Given the description of an element on the screen output the (x, y) to click on. 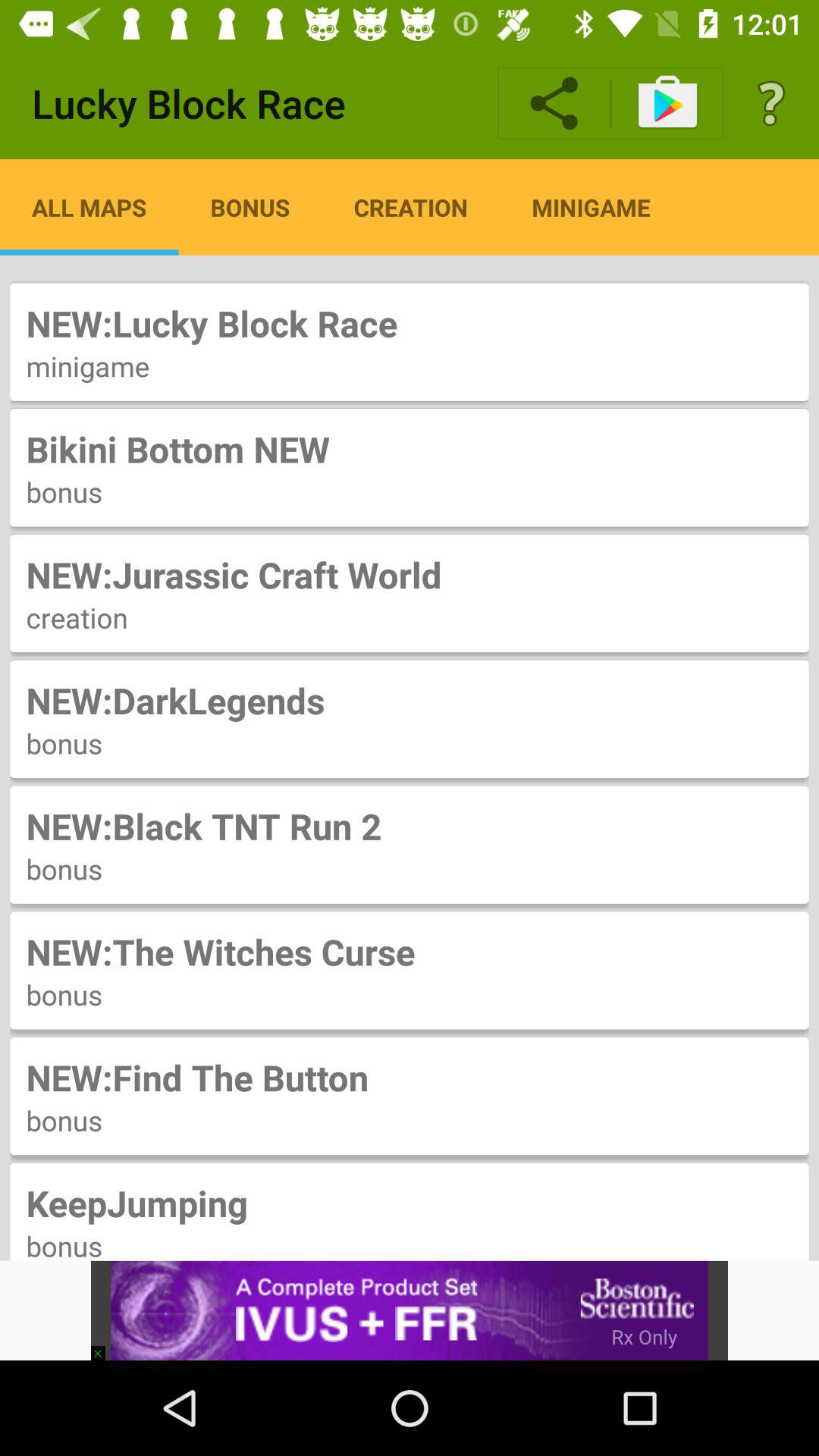
open bikini bottom new item (409, 448)
